Given the description of an element on the screen output the (x, y) to click on. 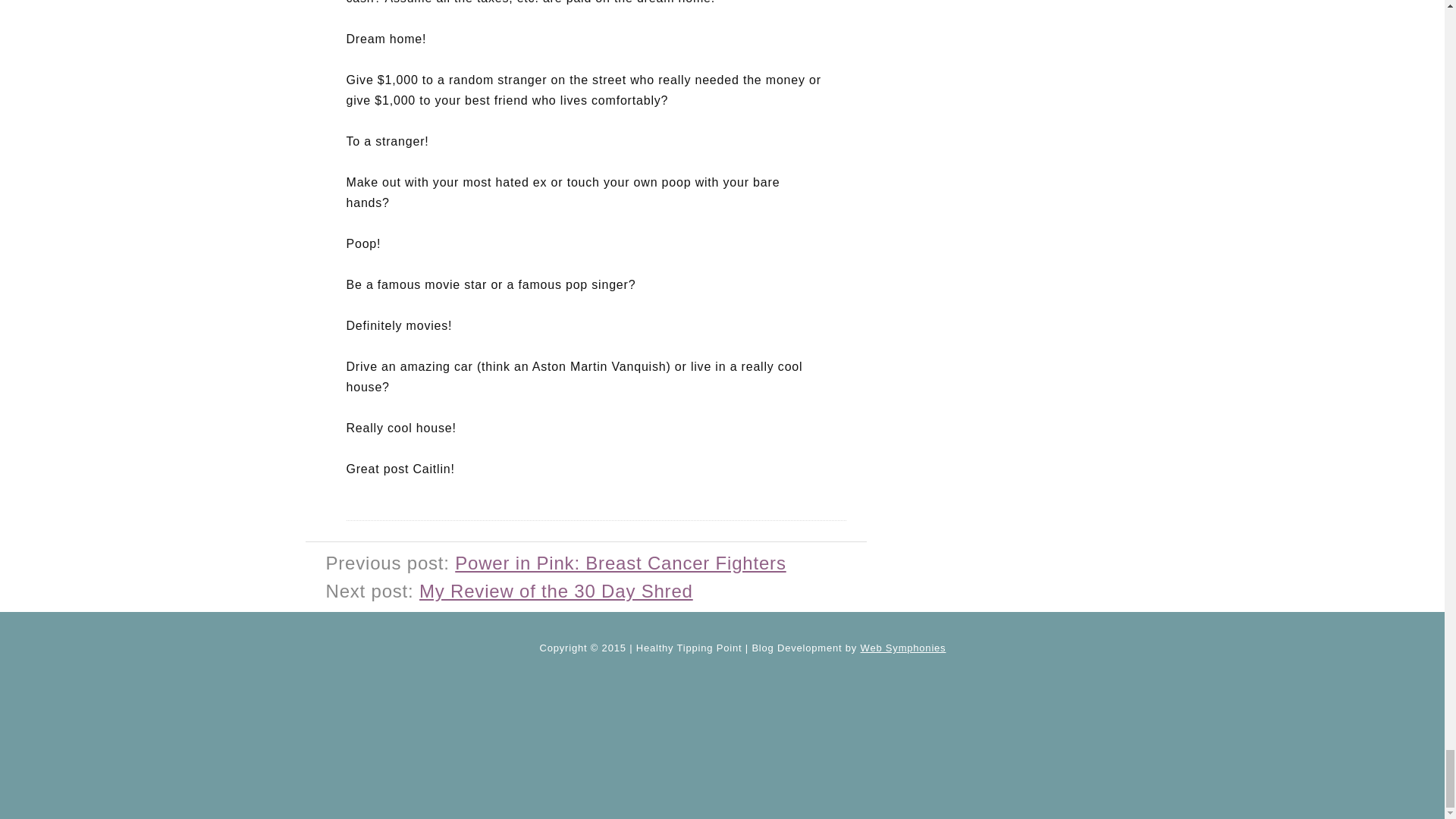
Power in Pink: Breast Cancer Fighters (620, 562)
My Review of the 30 Day Shred (556, 590)
